Given the description of an element on the screen output the (x, y) to click on. 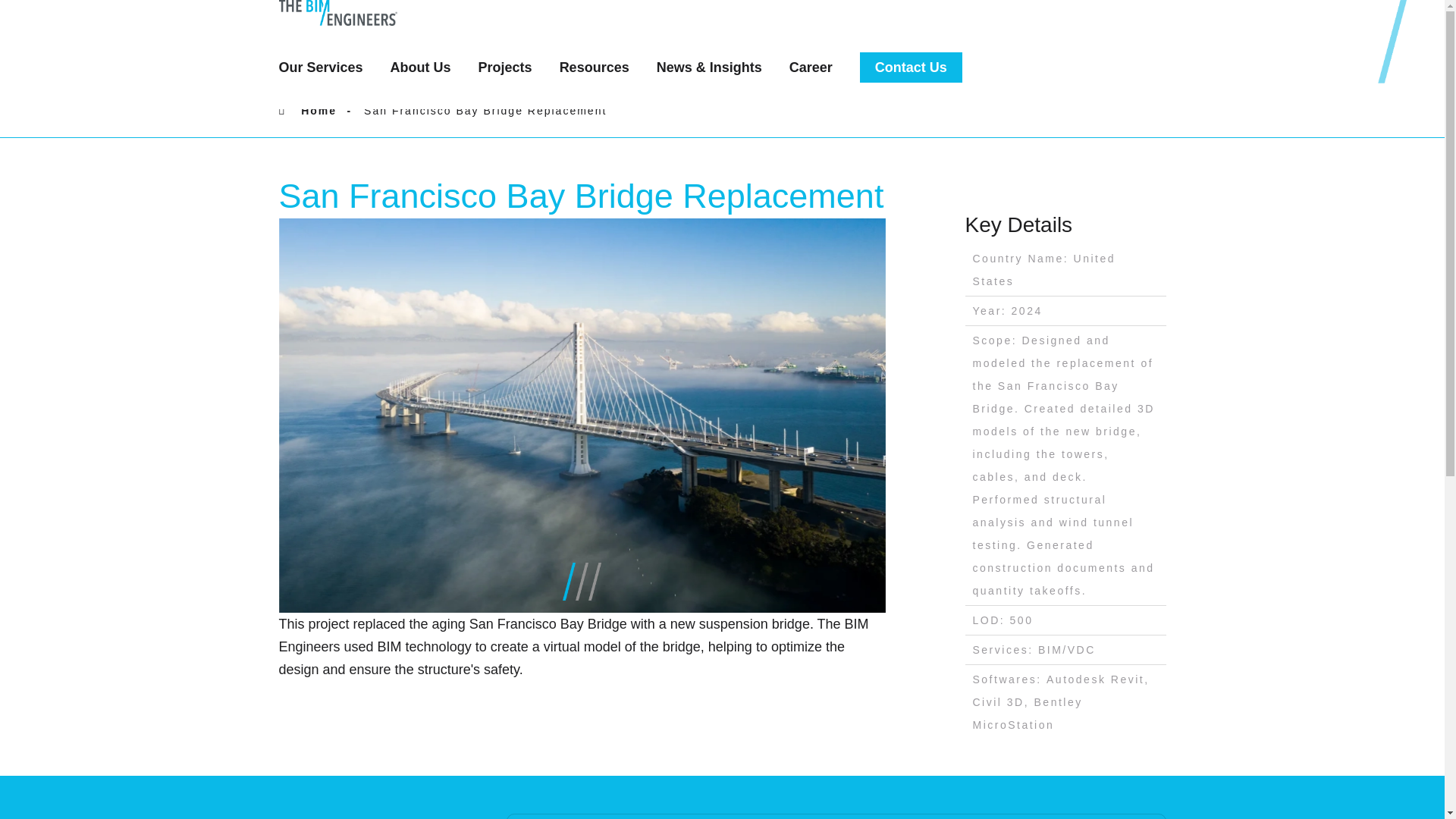
Career (818, 67)
About us (427, 67)
 The BIM Engineers (381, 12)
Career (818, 67)
Contact Us (911, 67)
Projects (513, 67)
Our Services (328, 67)
Resources (602, 67)
About Us (427, 67)
Projects (513, 67)
Contact Us (911, 67)
Resources (602, 67)
Our Services (328, 67)
